Given the description of an element on the screen output the (x, y) to click on. 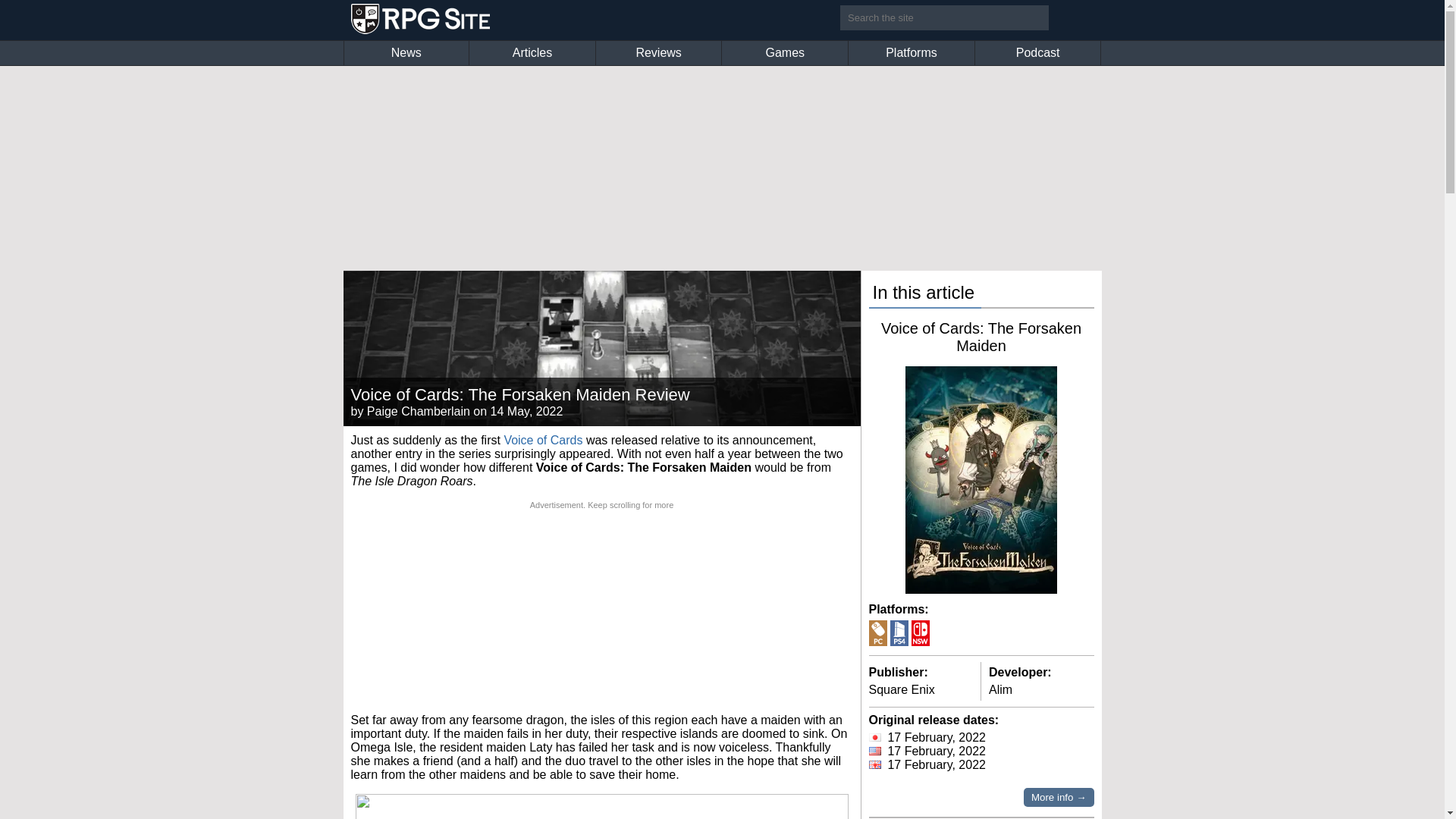
Reviews (658, 52)
Voice of Cards: The Forsaken Maiden (980, 336)
Podcast (1037, 52)
Voice of Cards (542, 440)
News (405, 52)
Platforms (911, 52)
Games (784, 52)
Articles (531, 52)
Paige Chamberlain (418, 410)
